Given the description of an element on the screen output the (x, y) to click on. 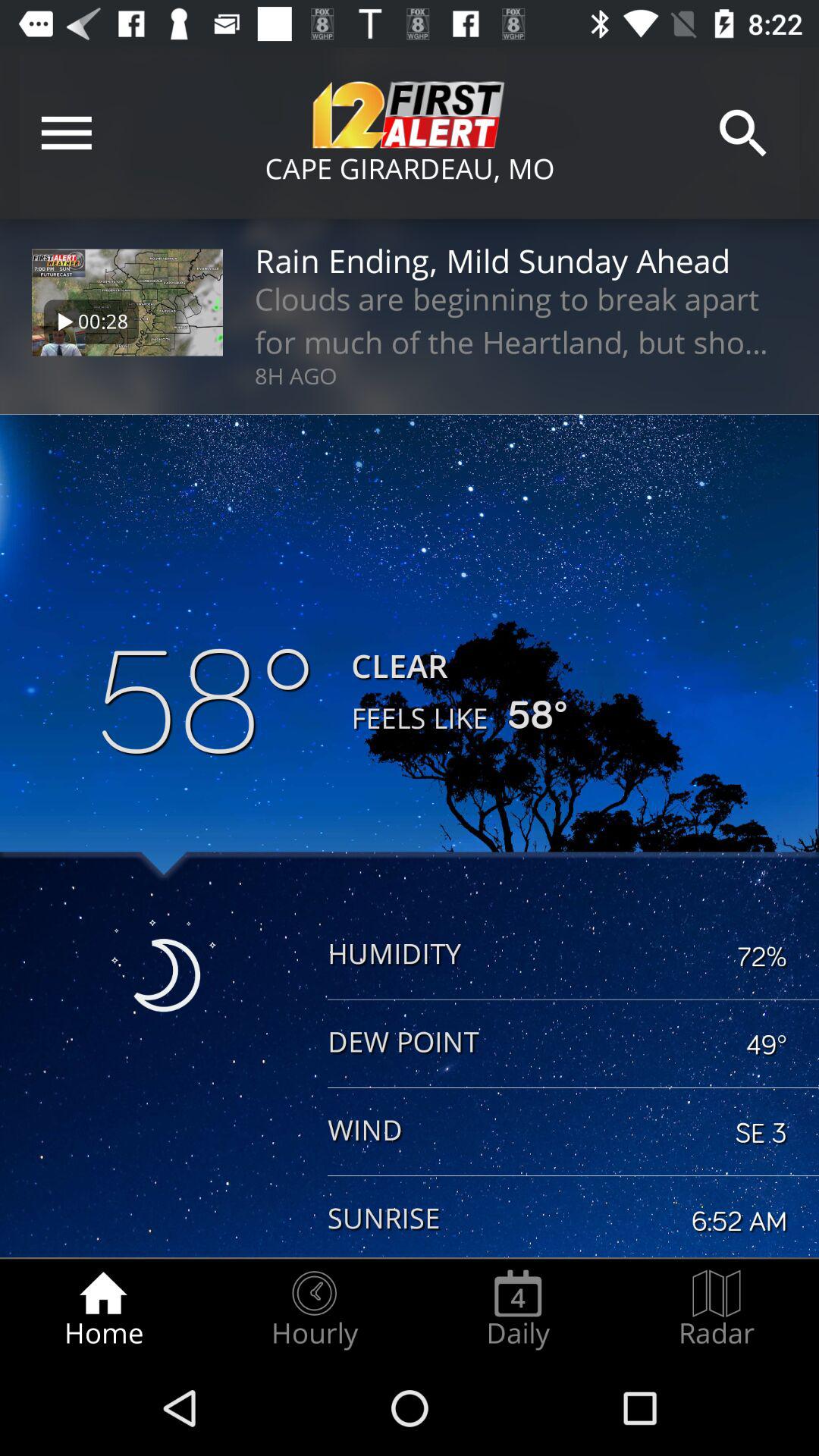
flip to the home icon (103, 1309)
